Given the description of an element on the screen output the (x, y) to click on. 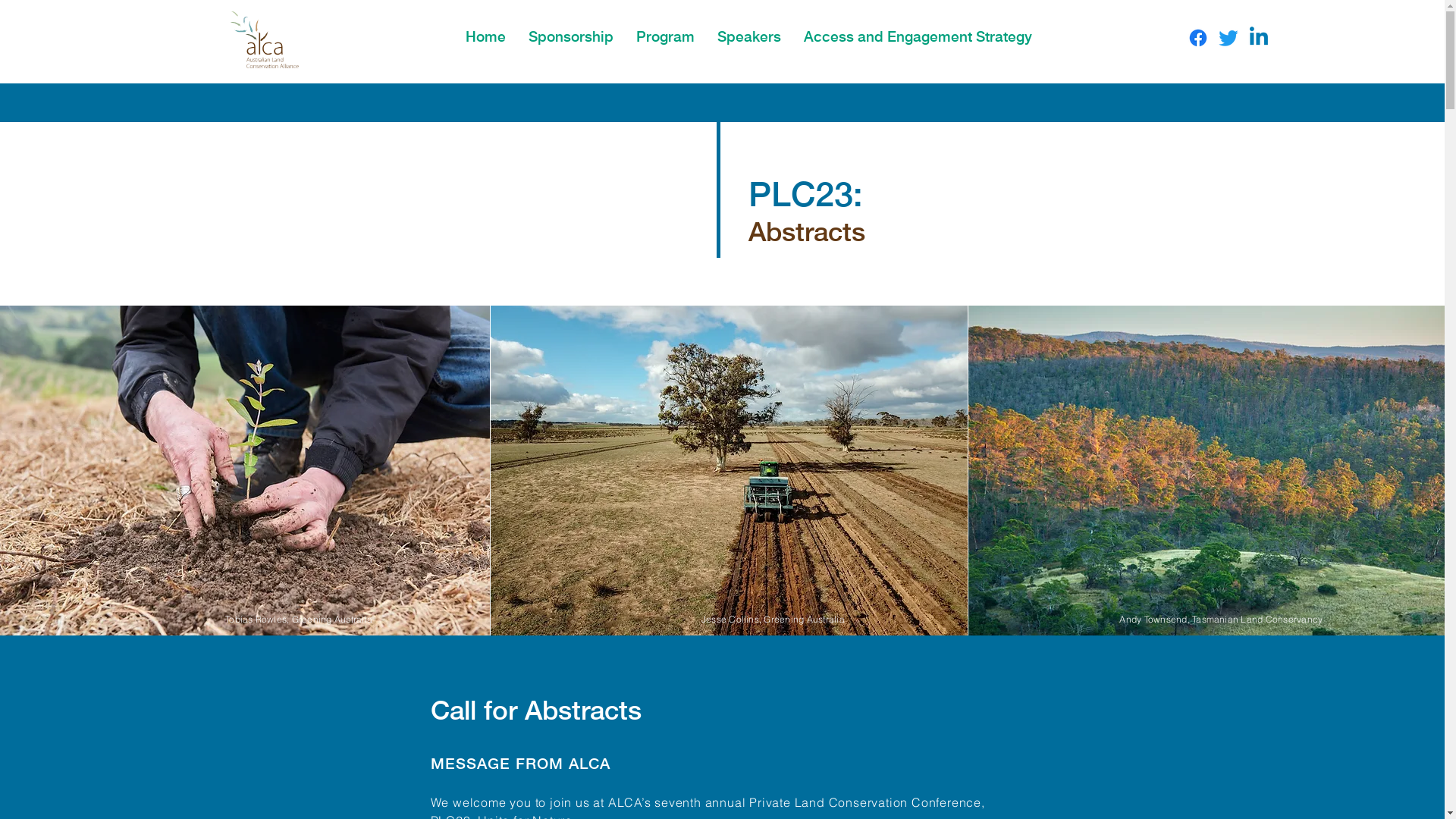
Sponsorship Element type: text (570, 33)
Call for Abstracts Element type: text (535, 709)
Home Element type: text (485, 33)
Program Element type: text (665, 33)
Speakers Element type: text (749, 33)
Access and Engagement Strategy Element type: text (917, 33)
